Given the description of an element on the screen output the (x, y) to click on. 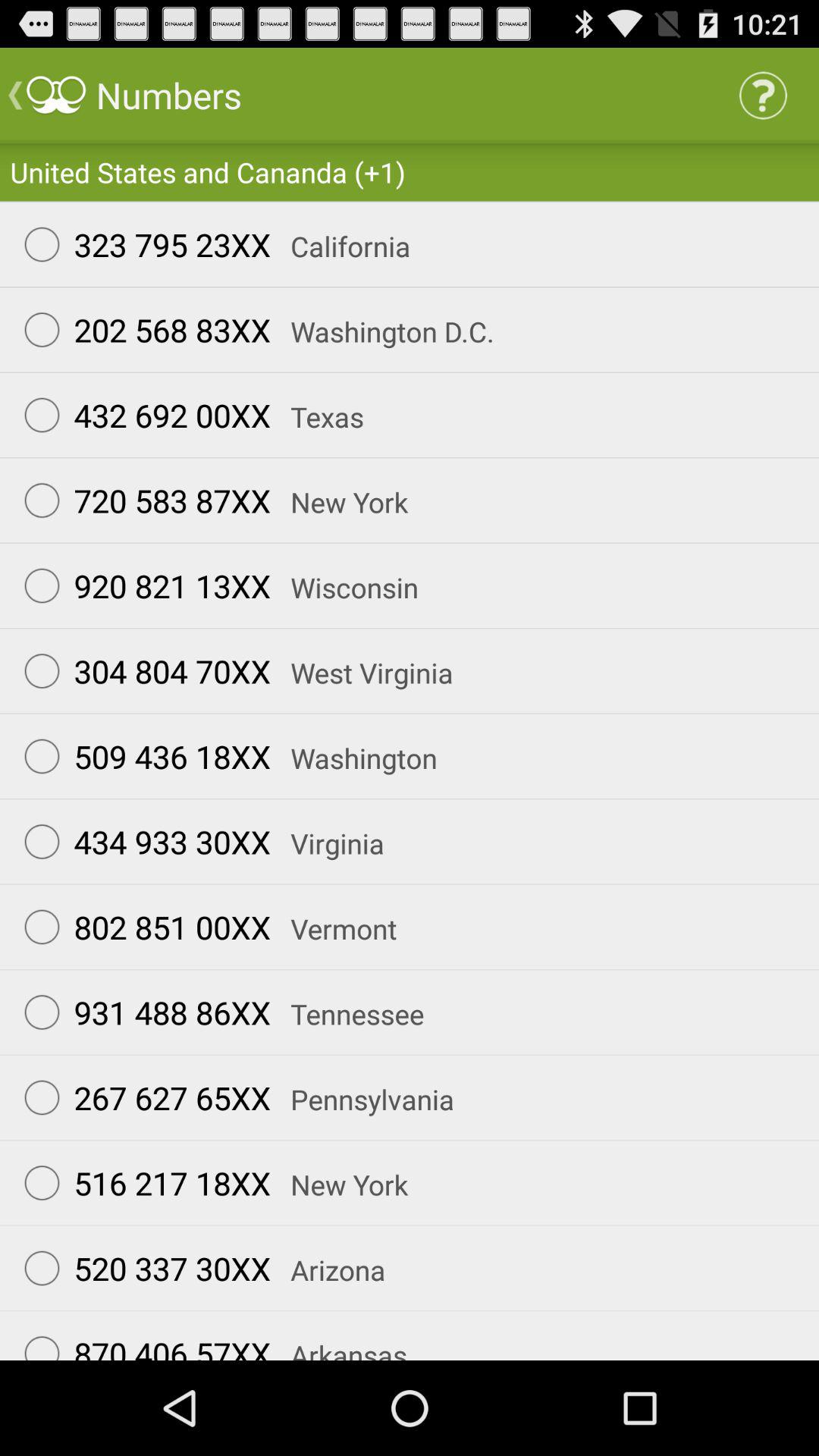
flip until the 202 568 83xx (140, 329)
